Given the description of an element on the screen output the (x, y) to click on. 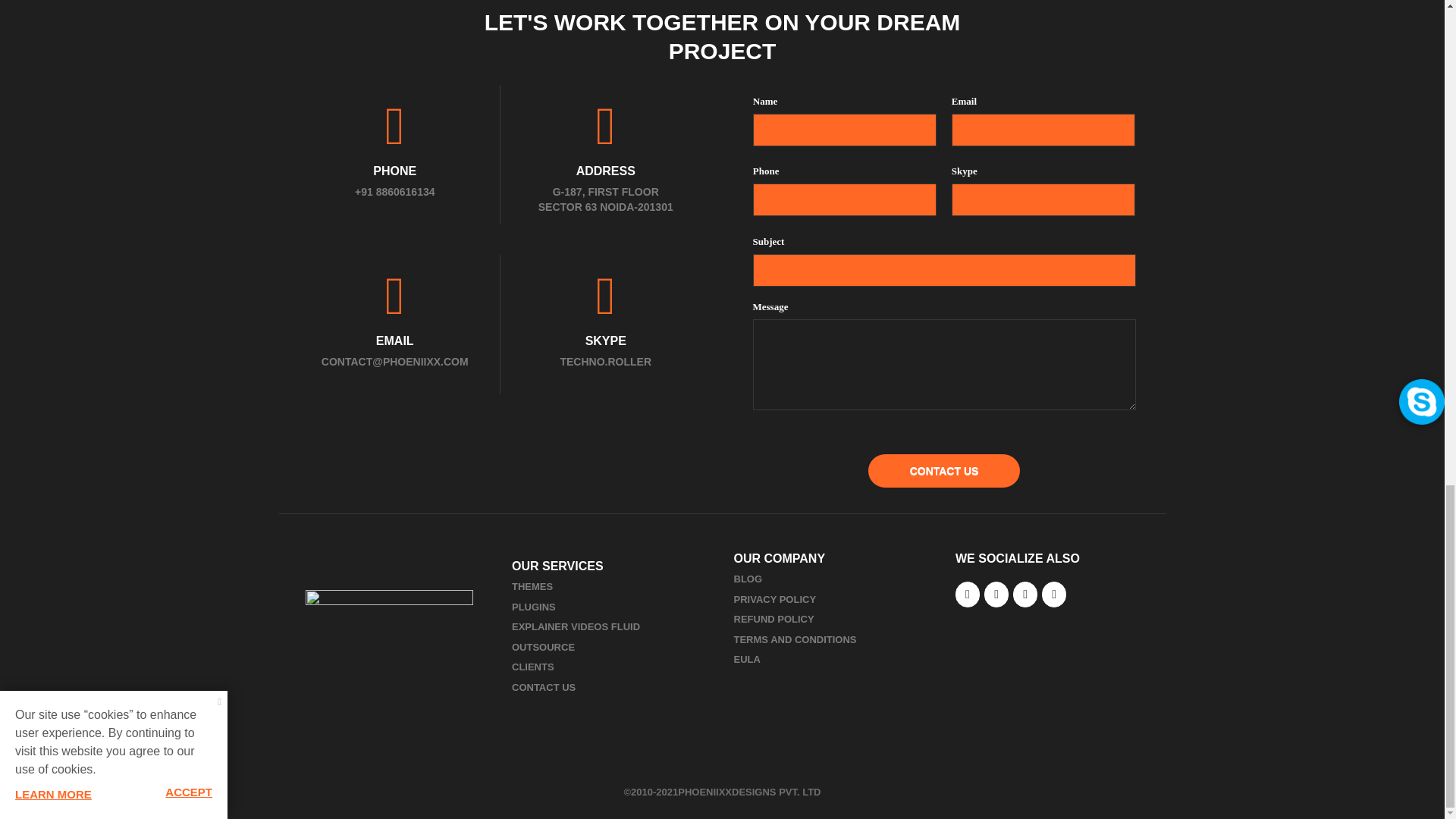
Phoeniixx on Google (1024, 594)
Phoeniixx on Facebook (967, 594)
Phoeniixx on Youtube (1053, 594)
Phoeniixx on X Twitter (996, 594)
